Given the description of an element on the screen output the (x, y) to click on. 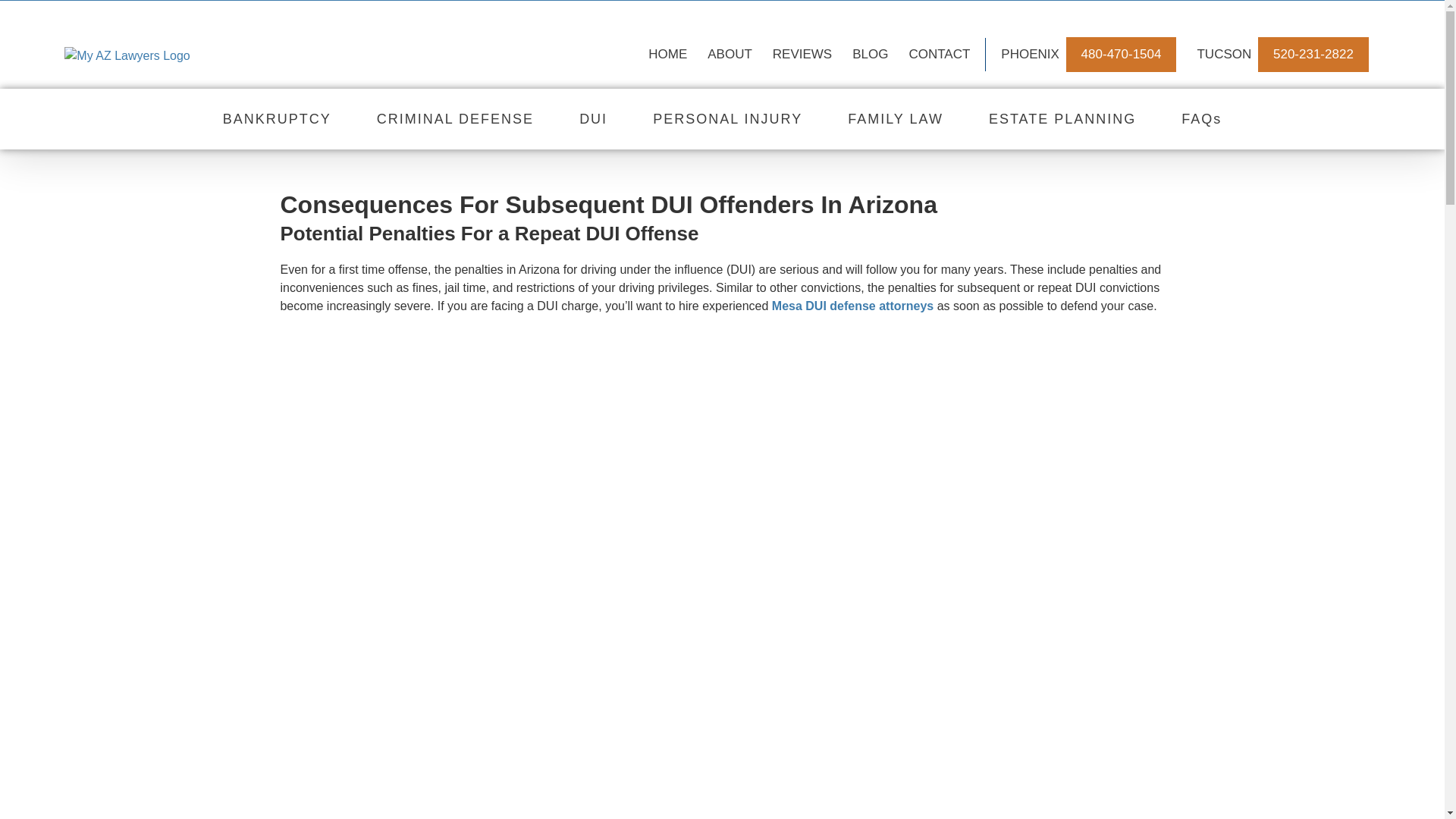
ABOUT (729, 54)
CRIMINAL DEFENSE (455, 119)
PHOENIX 480-470-1504 (1088, 54)
HOME (668, 54)
TUCSON 520-231-2822 (1281, 54)
CONTACT (938, 54)
BANKRUPTCY (276, 119)
REVIEWS (801, 54)
BLOG (870, 54)
